Given the description of an element on the screen output the (x, y) to click on. 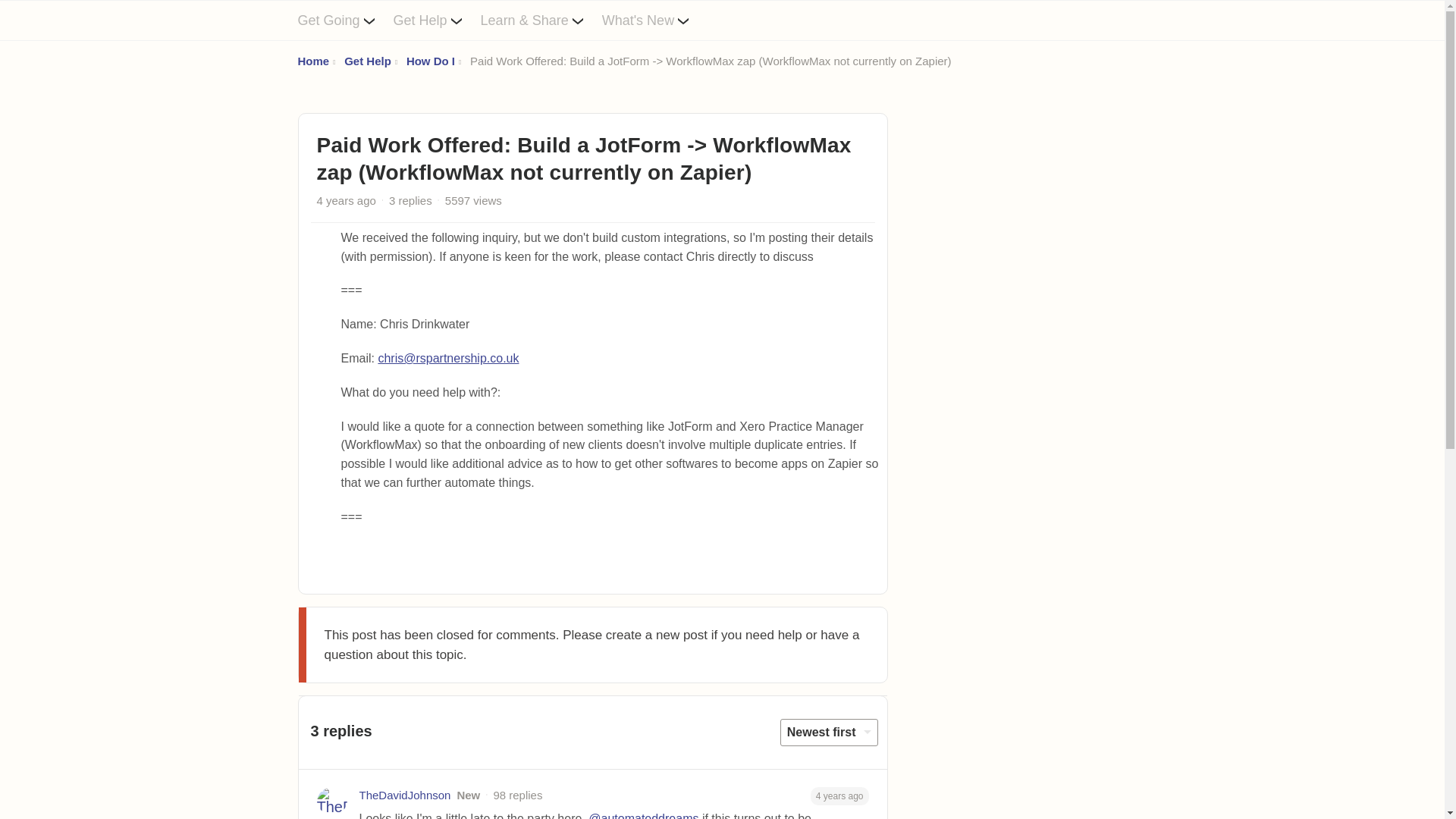
Get Help (367, 61)
4 years ago (839, 794)
Get Help (436, 20)
What's New (654, 20)
3 replies (410, 200)
TheDavidJohnson (405, 795)
TheDavidJohnson (405, 795)
Get Going (345, 20)
How Do I (430, 61)
Home (313, 61)
